Given the description of an element on the screen output the (x, y) to click on. 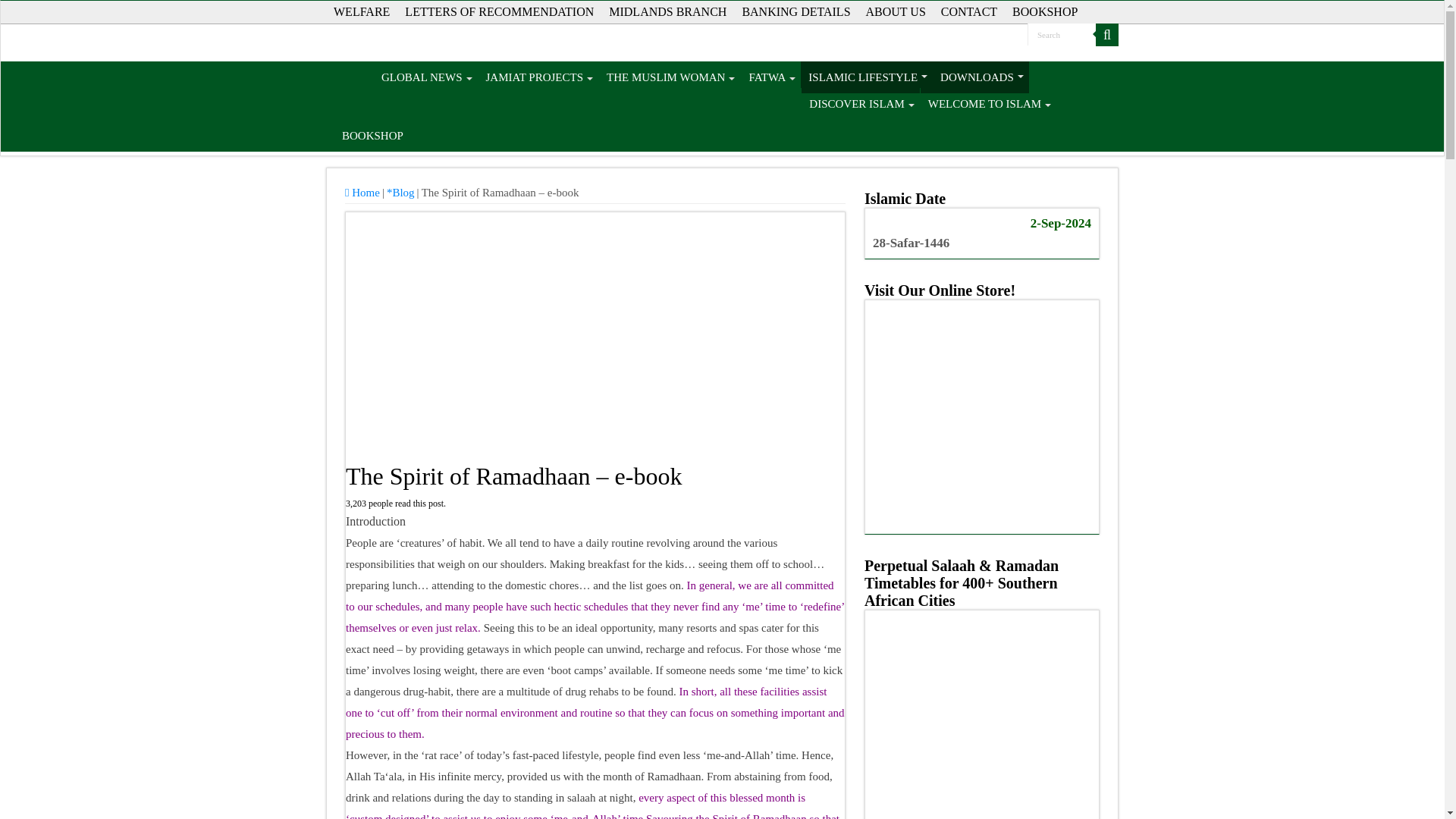
ABOUT US (896, 11)
GLOBAL NEWS (425, 77)
BANKING DETAILS (795, 11)
Search (1061, 34)
JAMIAT PROJECTS (538, 77)
THE MUSLIM WOMAN (668, 77)
HOME (352, 77)
MIDLANDS BRANCH (667, 11)
WELFARE (361, 11)
Search (1107, 34)
